Given the description of an element on the screen output the (x, y) to click on. 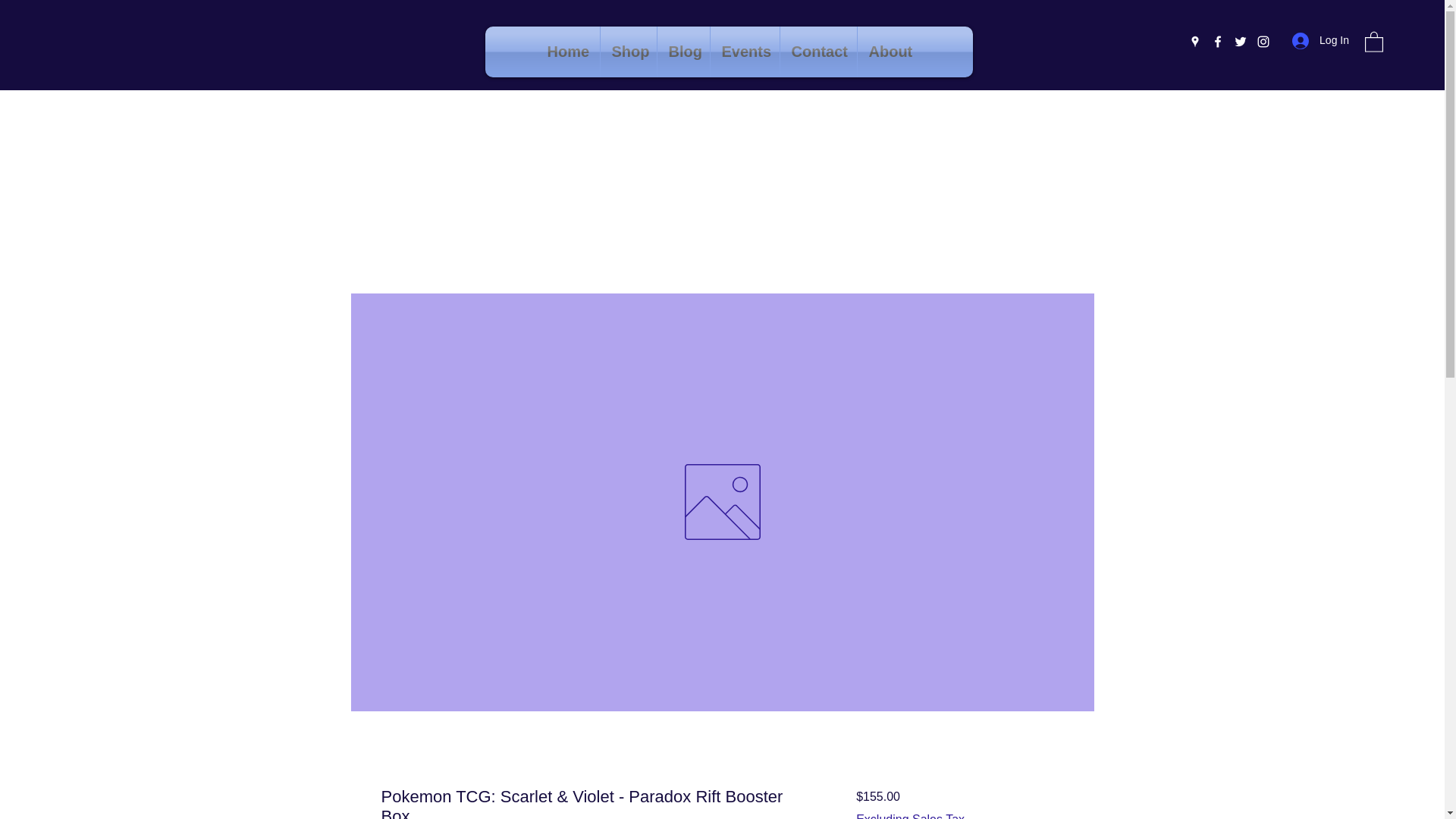
Home (566, 51)
Contact (817, 51)
About (889, 51)
Events (744, 51)
Log In (1320, 40)
Blog (682, 51)
Shop (627, 51)
